Given the description of an element on the screen output the (x, y) to click on. 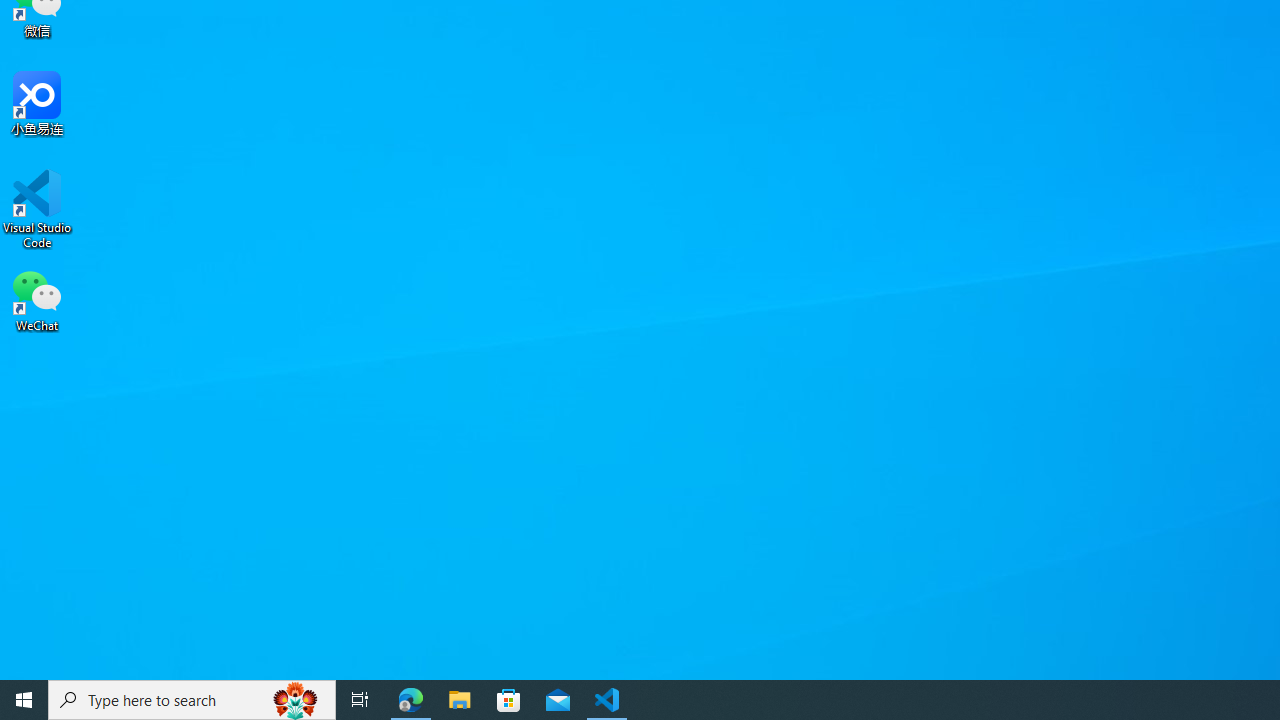
Search highlights icon opens search home window (295, 699)
Microsoft Store (509, 699)
Start (24, 699)
File Explorer (460, 699)
WeChat (37, 299)
Type here to search (191, 699)
Task View (359, 699)
Visual Studio Code (37, 209)
Microsoft Edge - 1 running window (411, 699)
Visual Studio Code - 1 running window (607, 699)
